Given the description of an element on the screen output the (x, y) to click on. 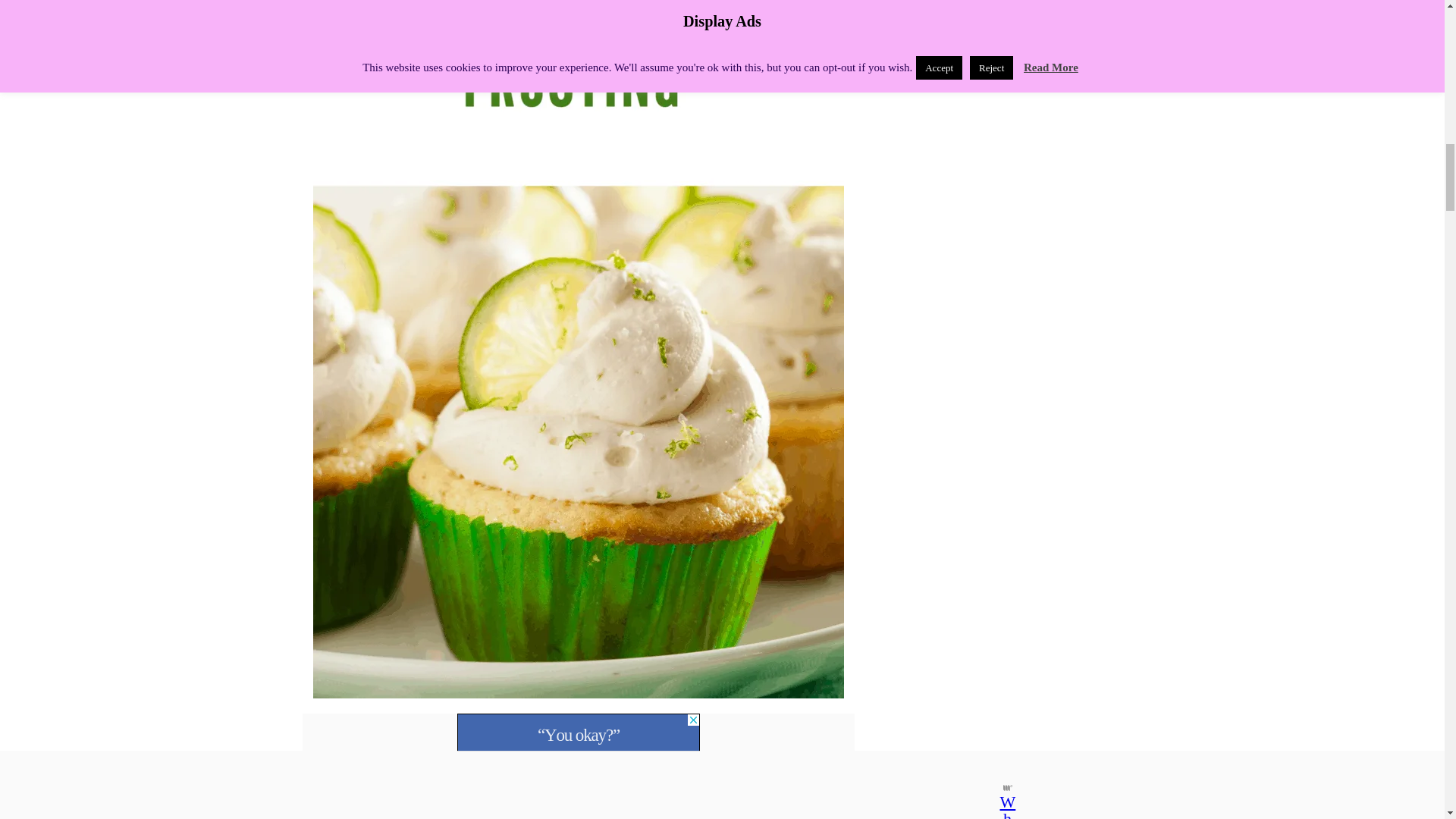
3rd party ad content (577, 732)
